Given the description of an element on the screen output the (x, y) to click on. 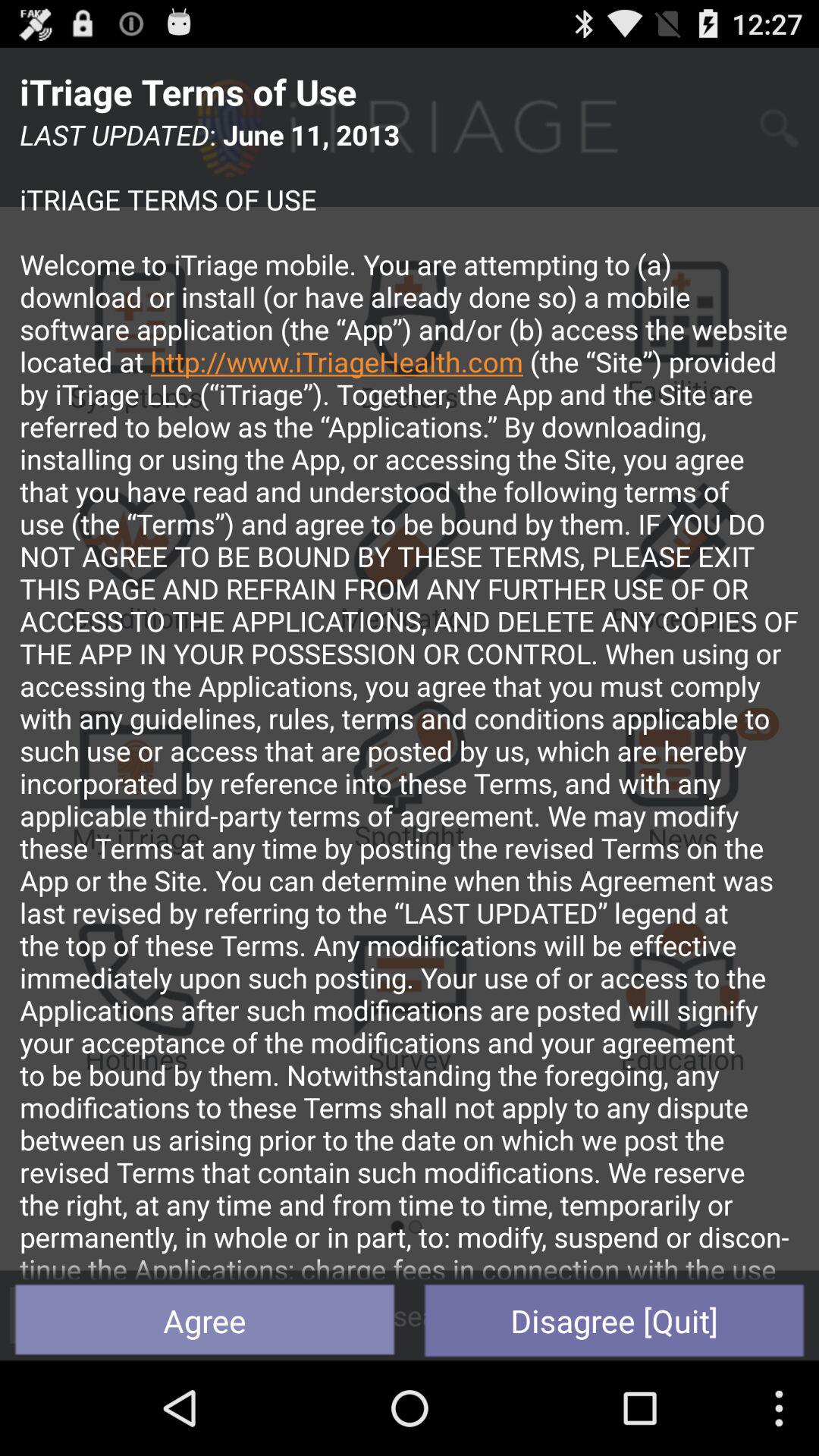
tap item next to the disagree [quit] (204, 1320)
